Given the description of an element on the screen output the (x, y) to click on. 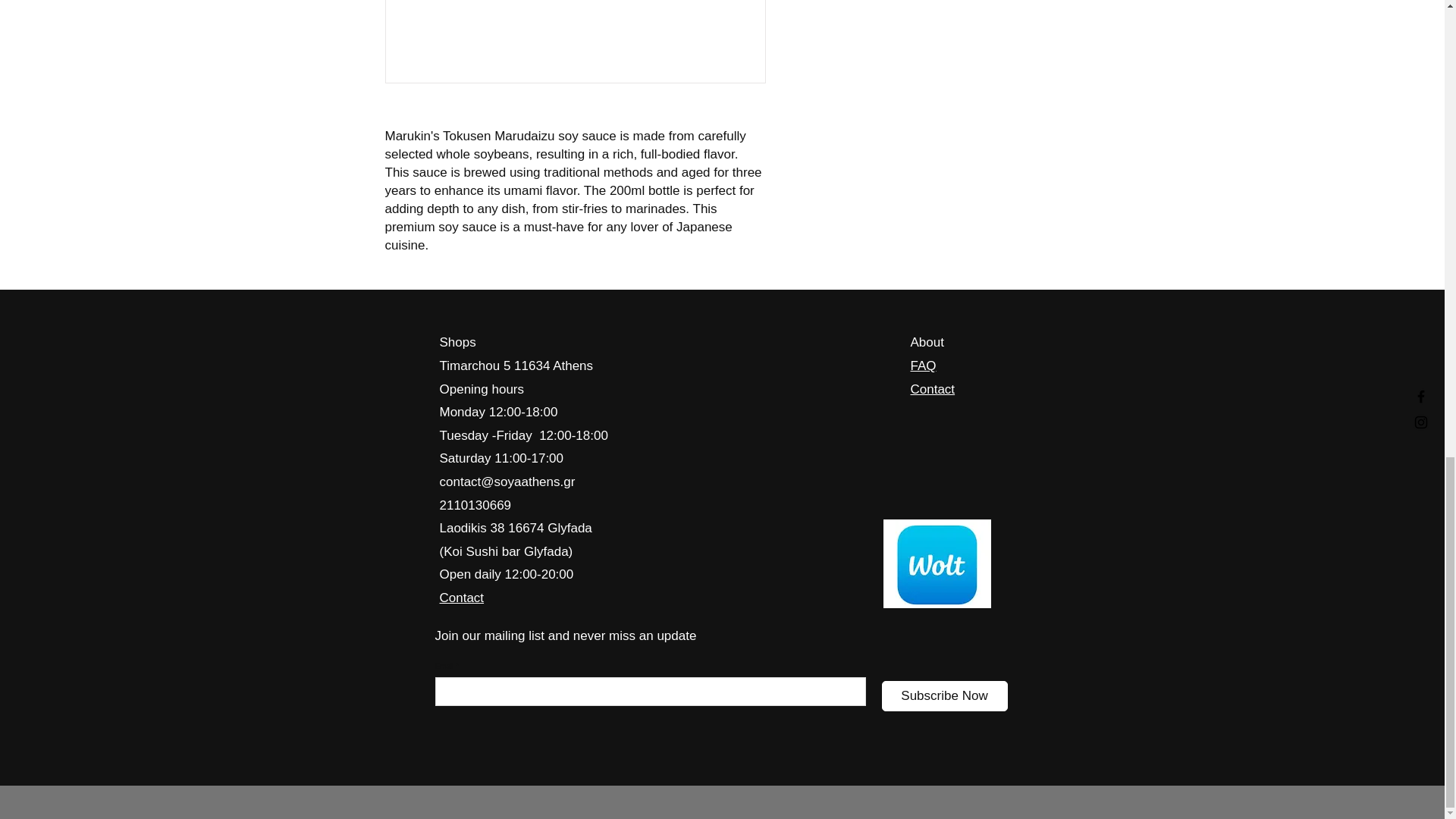
wolt.png (936, 563)
